Given the description of an element on the screen output the (x, y) to click on. 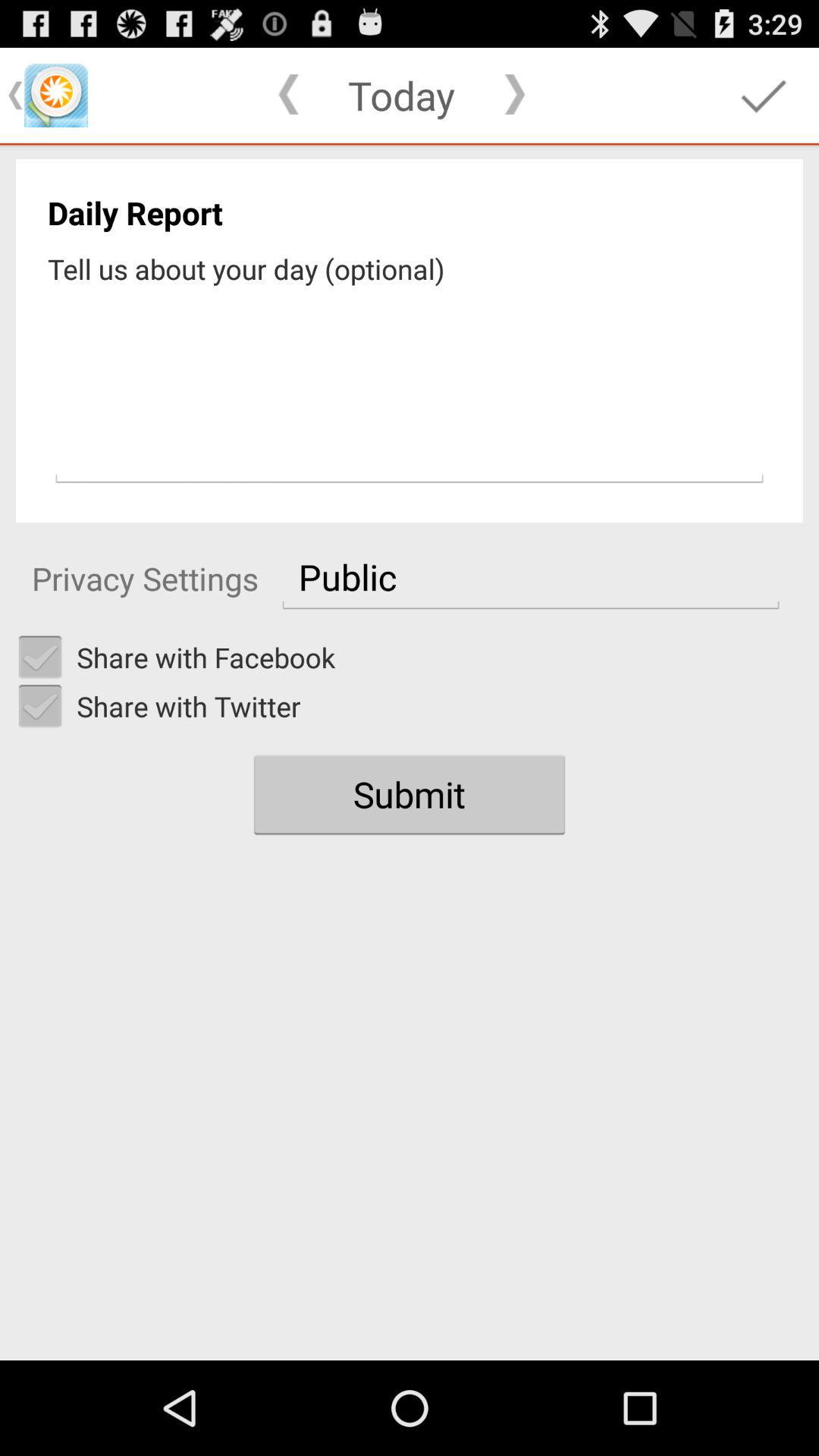
write daily report (409, 388)
